Given the description of an element on the screen output the (x, y) to click on. 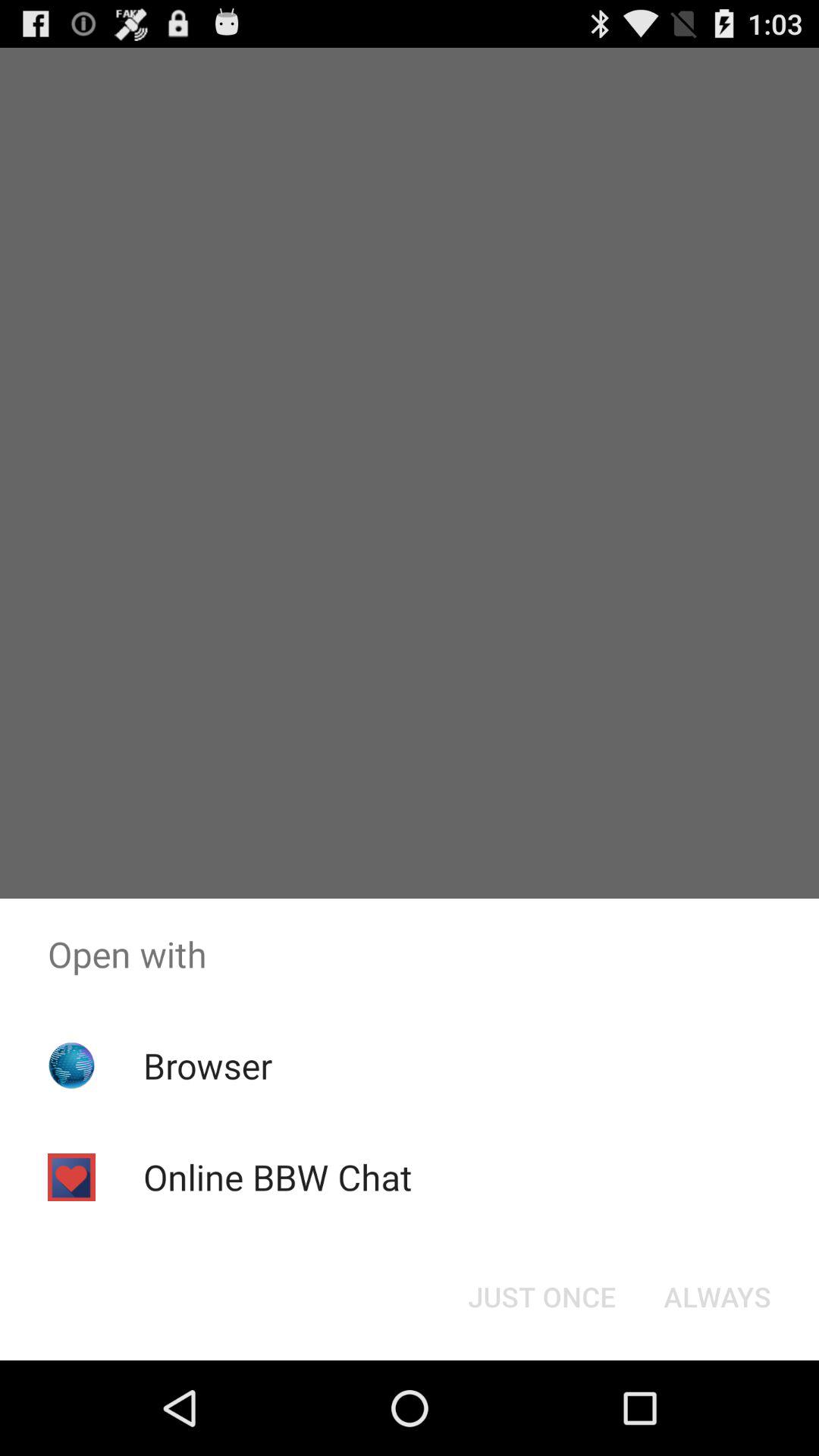
click item next to the always item (541, 1296)
